Given the description of an element on the screen output the (x, y) to click on. 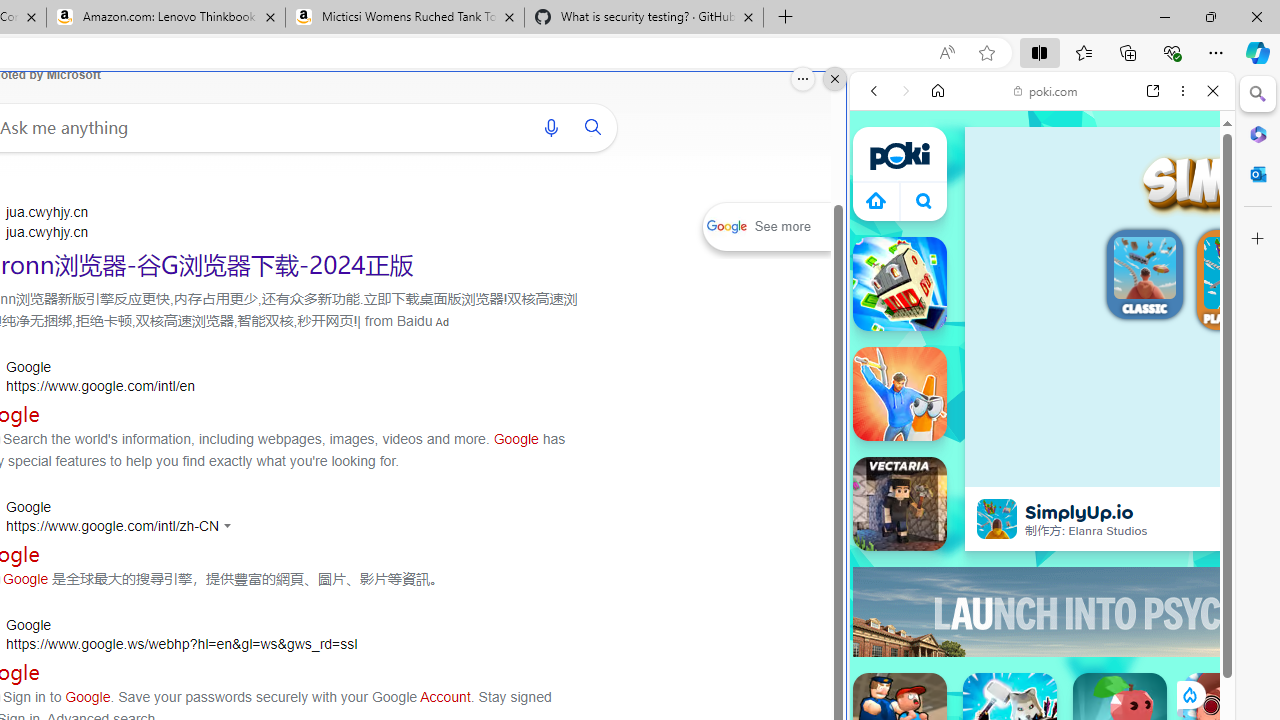
Class: rounded img-fluid d-block w-100 fit-cover (1240, 273)
Show More Two Player Games (1164, 570)
Stack City (899, 283)
Shooting Games (1042, 518)
Show More Car Games (1164, 472)
poki.com (1046, 90)
